Given the description of an element on the screen output the (x, y) to click on. 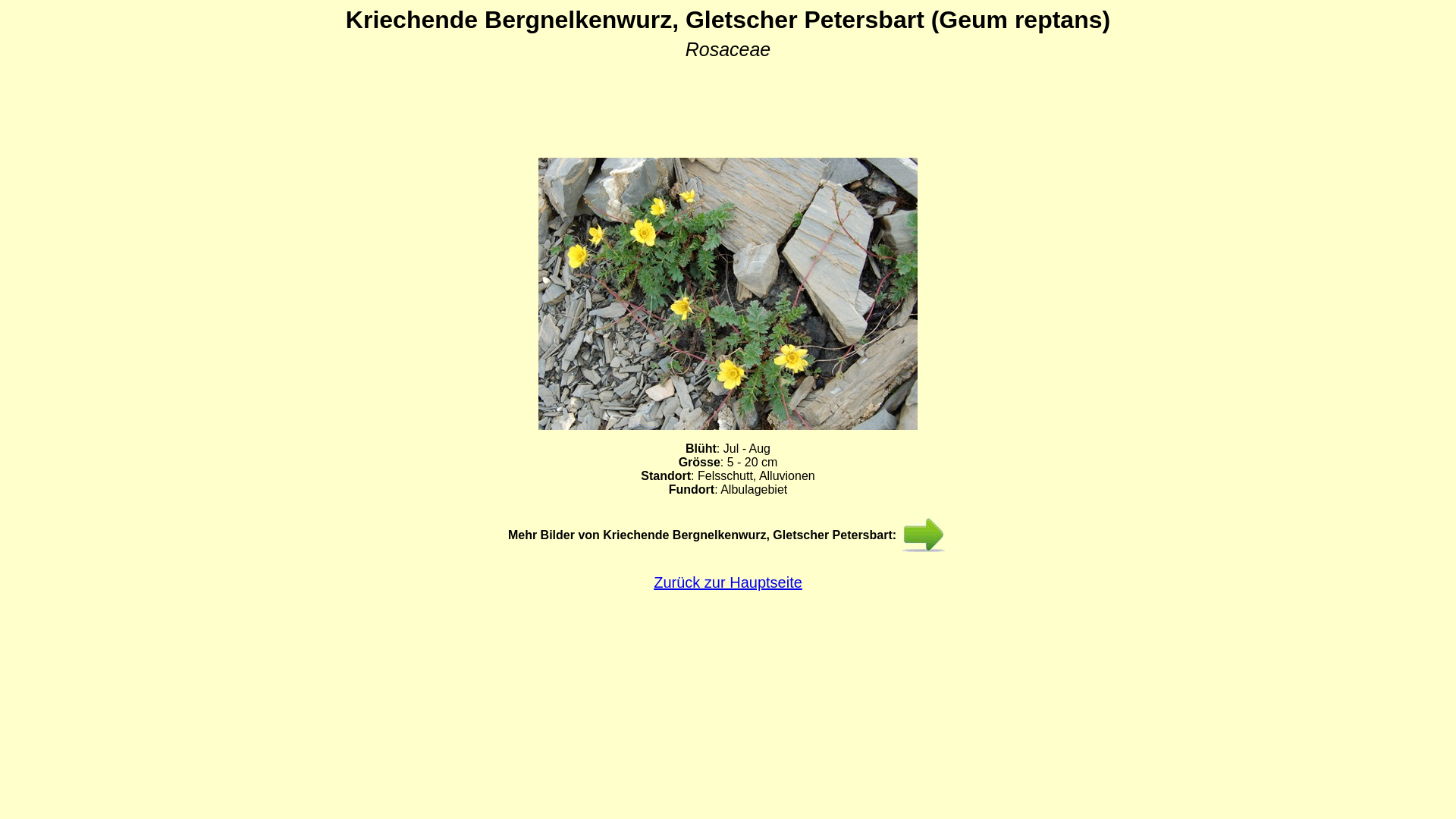
Advertisement Element type: hover (727, 99)
